Given the description of an element on the screen output the (x, y) to click on. 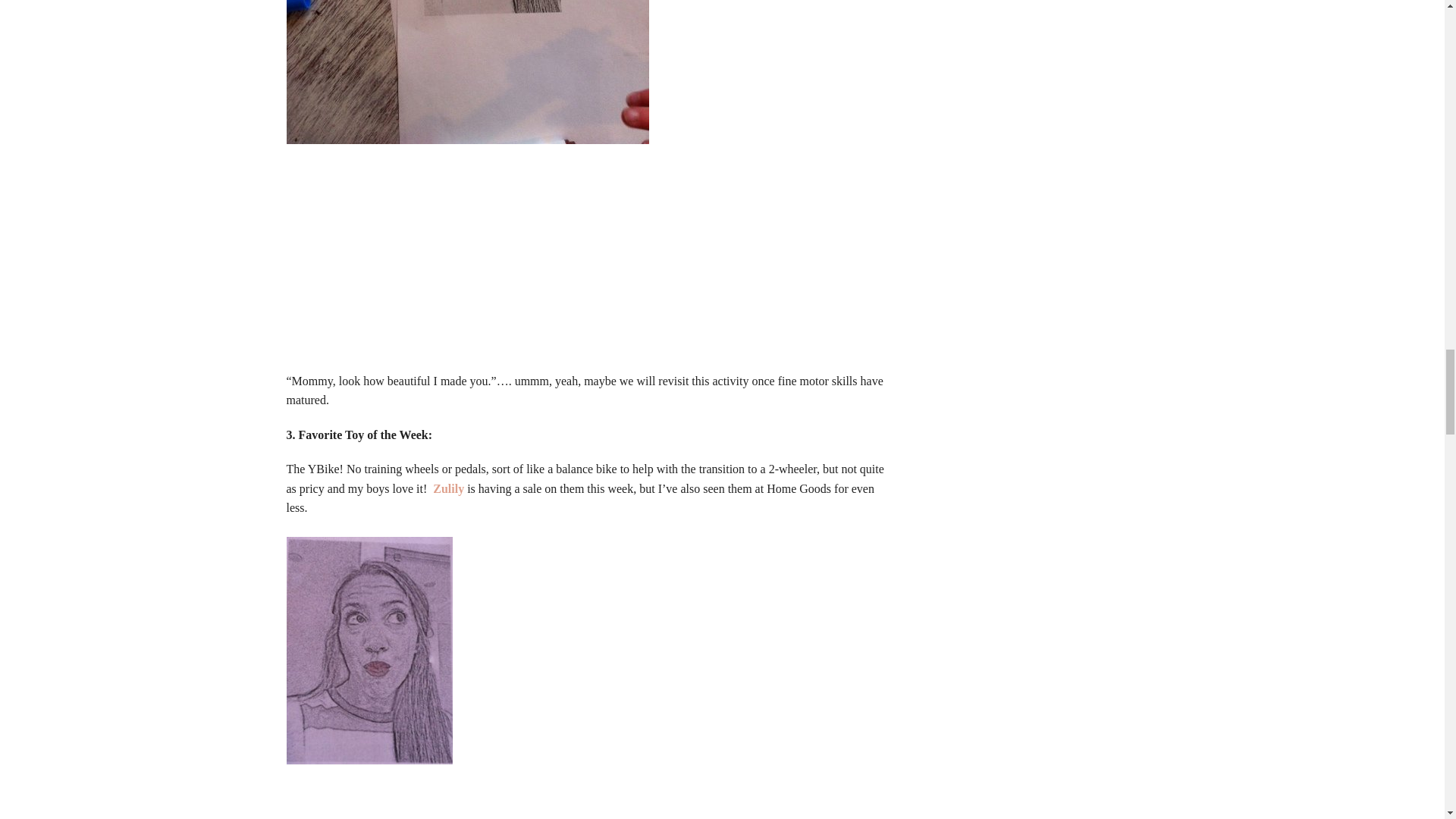
ybike (449, 488)
